Given the description of an element on the screen output the (x, y) to click on. 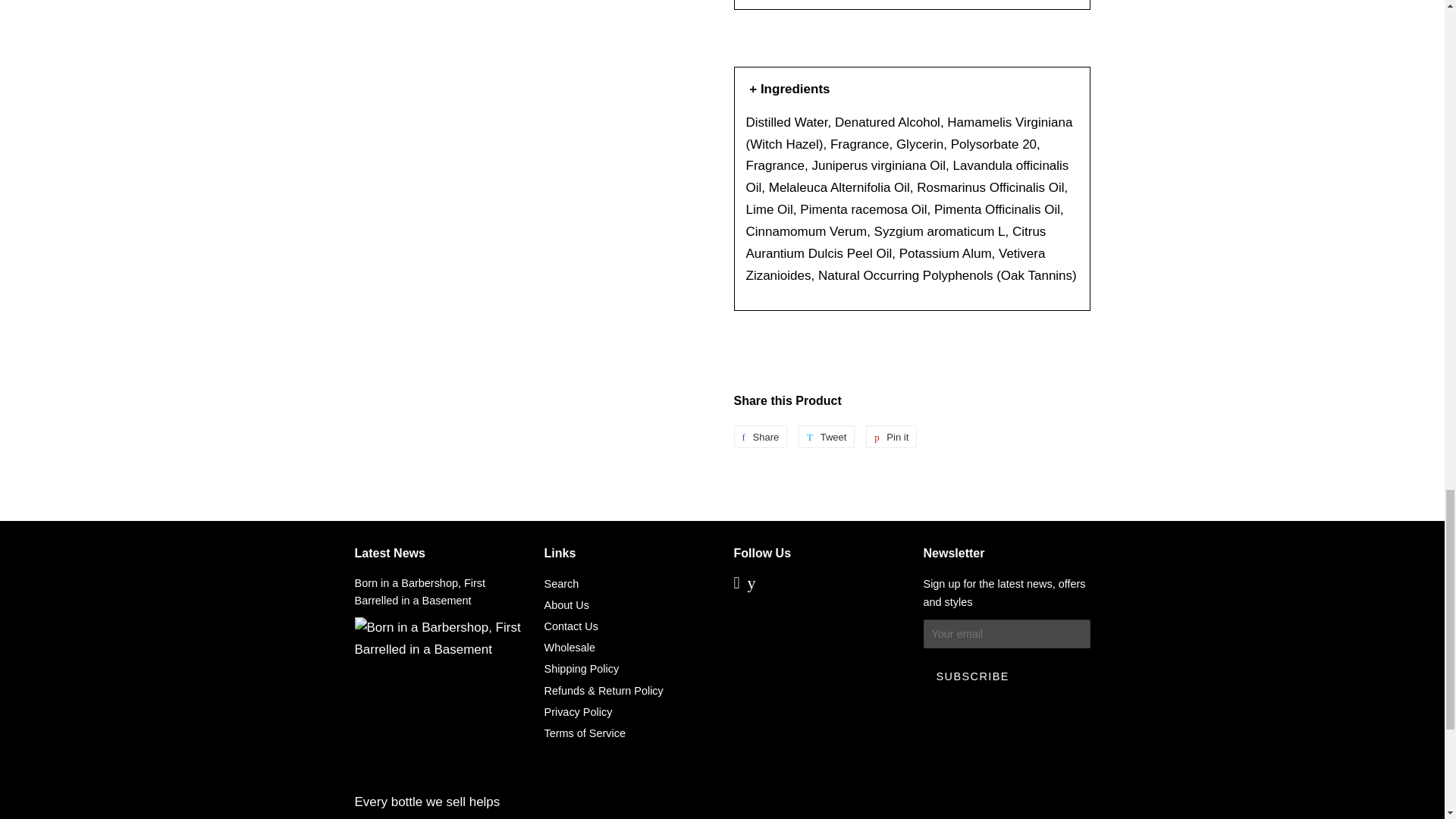
Share on Facebook (760, 436)
Wholesale (569, 647)
Tweet on Twitter (825, 436)
Born in a Barbershop, First Barrelled in a Basement (420, 591)
Contact Us (571, 625)
Latest News (390, 553)
Search (561, 583)
About Us (891, 436)
